Given the description of an element on the screen output the (x, y) to click on. 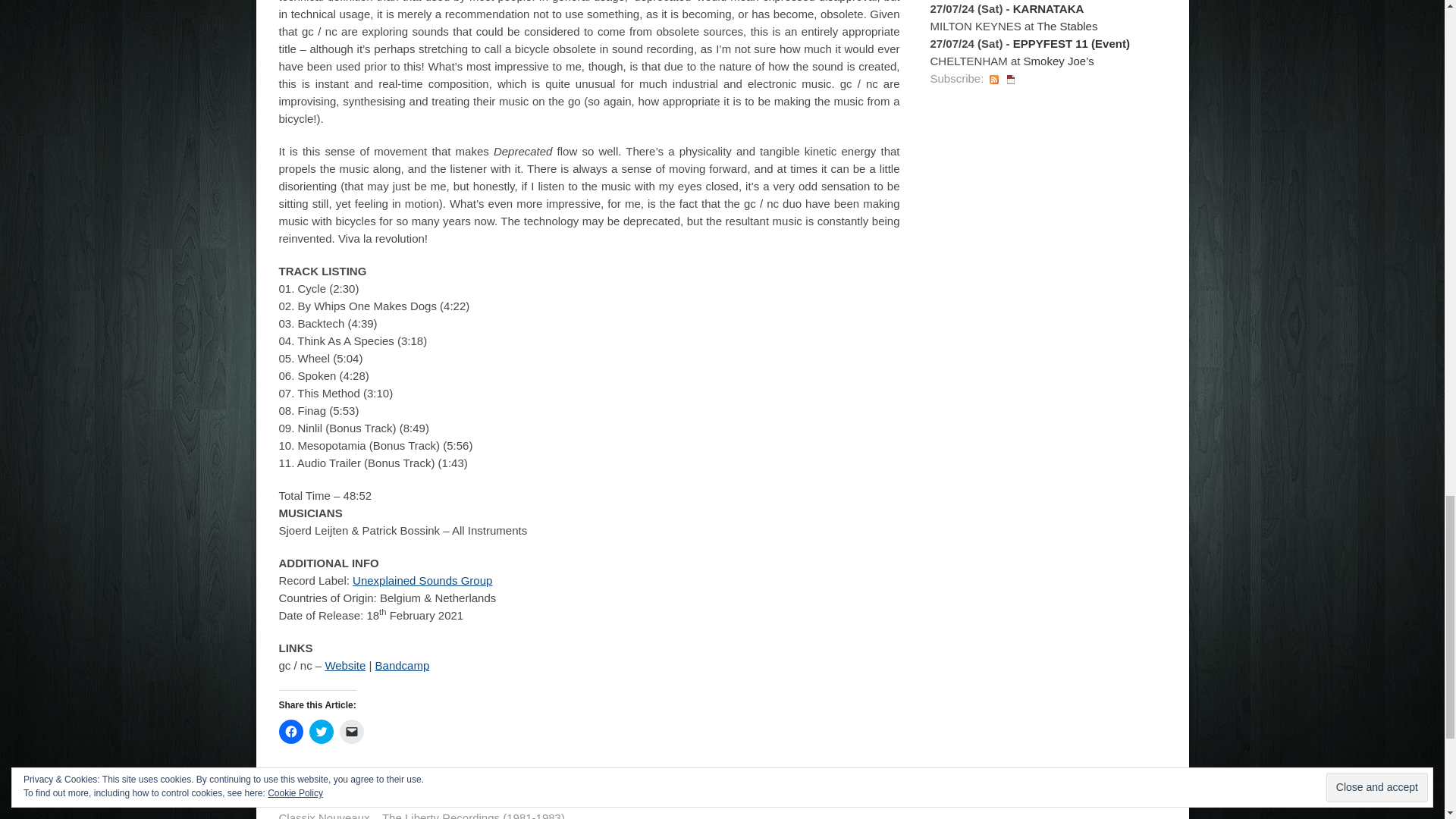
Website (344, 665)
Unexplained Sounds Group (422, 580)
